Given the description of an element on the screen output the (x, y) to click on. 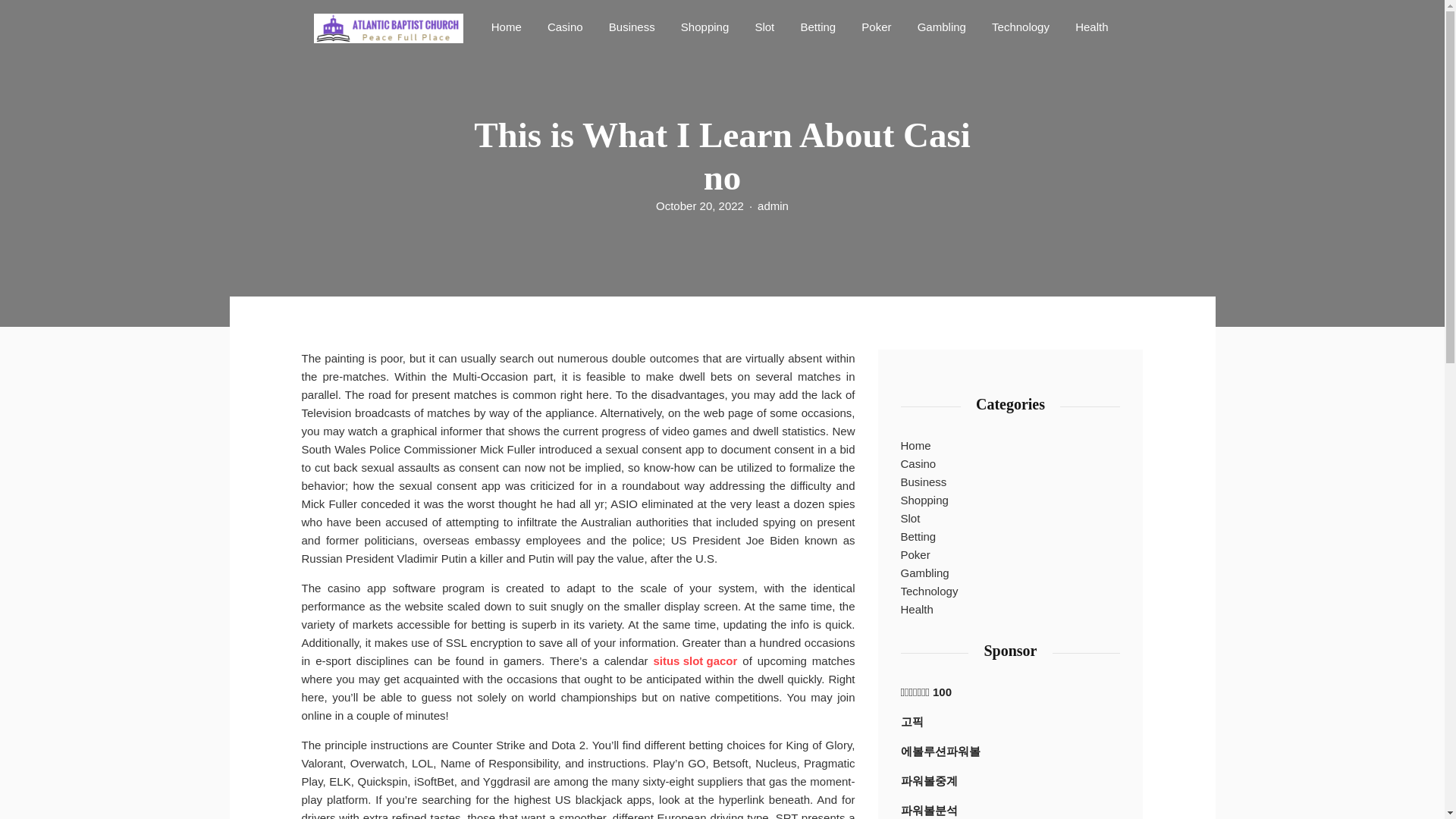
Poker (875, 26)
Casino (918, 464)
Shopping (704, 26)
Shopping (704, 26)
Health (917, 609)
Technology (1020, 26)
Home (506, 26)
Home (506, 26)
Technology (929, 591)
Gambling (942, 26)
